Given the description of an element on the screen output the (x, y) to click on. 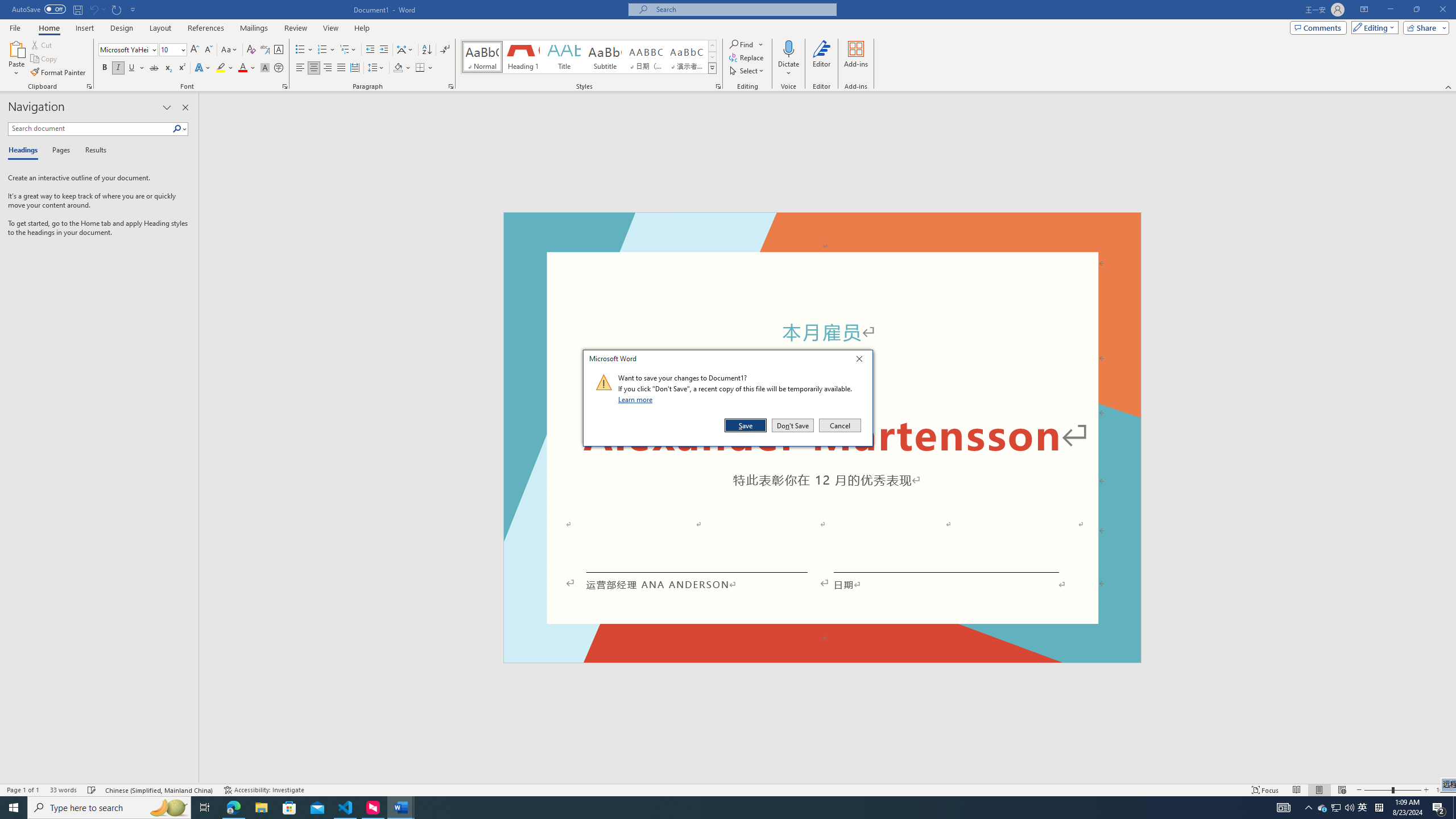
Mode (1372, 27)
Running applications (700, 807)
Font Size (172, 49)
Headings (25, 150)
AutomationID: 4105 (1283, 807)
Format Painter (58, 72)
Numbering (322, 49)
Sort... (426, 49)
Search (179, 128)
Superscript (180, 67)
Shading (402, 67)
Page Number Page 1 of 1 (22, 790)
Distributed (354, 67)
